Given the description of an element on the screen output the (x, y) to click on. 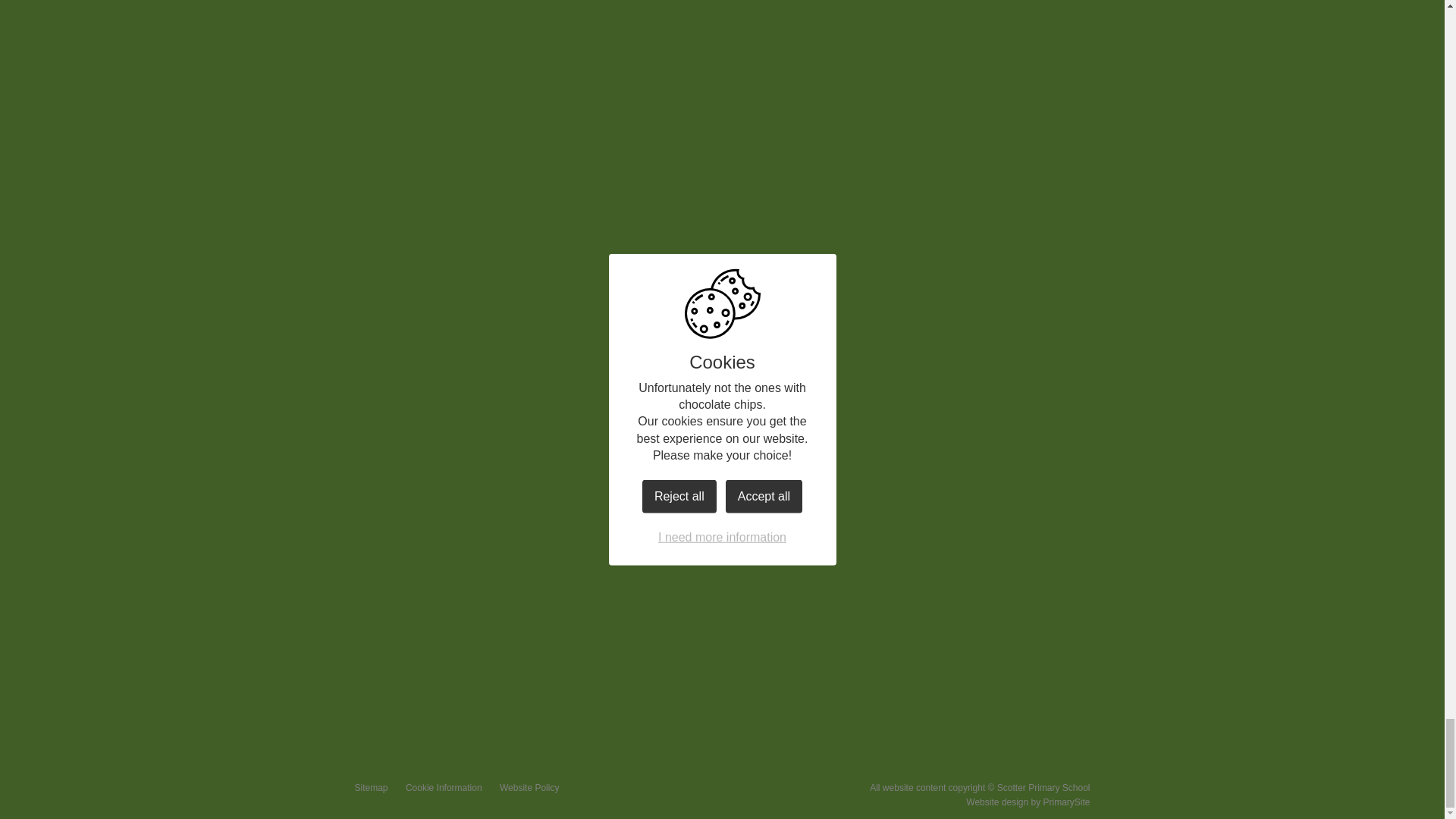
View large version of image (935, 58)
View large version of image (682, 58)
View large version of image (682, 222)
View large version of image (935, 222)
